Given the description of an element on the screen output the (x, y) to click on. 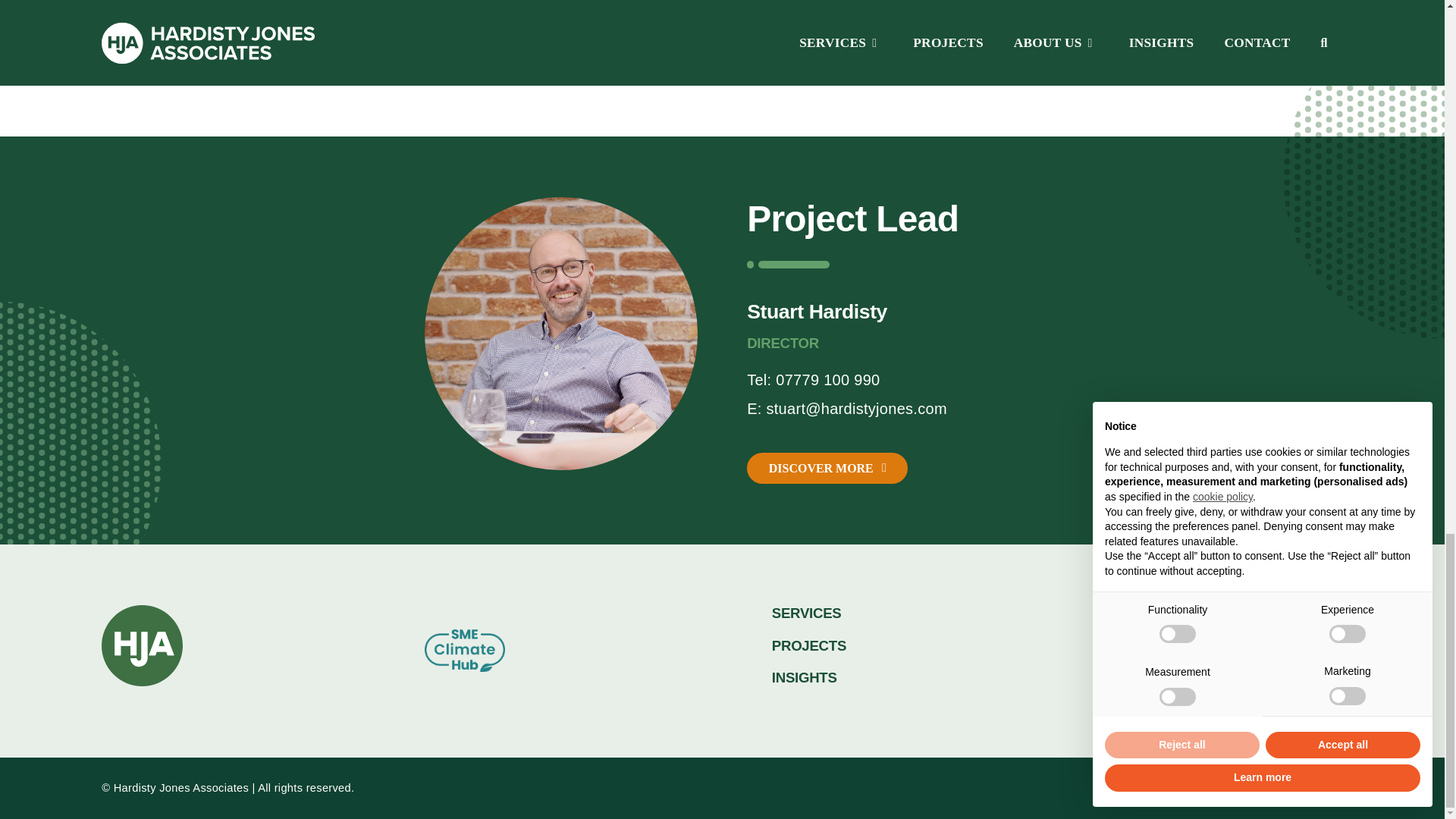
SME-Climate-Hub-logo-teal (465, 650)
P1078045 (561, 333)
